Given the description of an element on the screen output the (x, y) to click on. 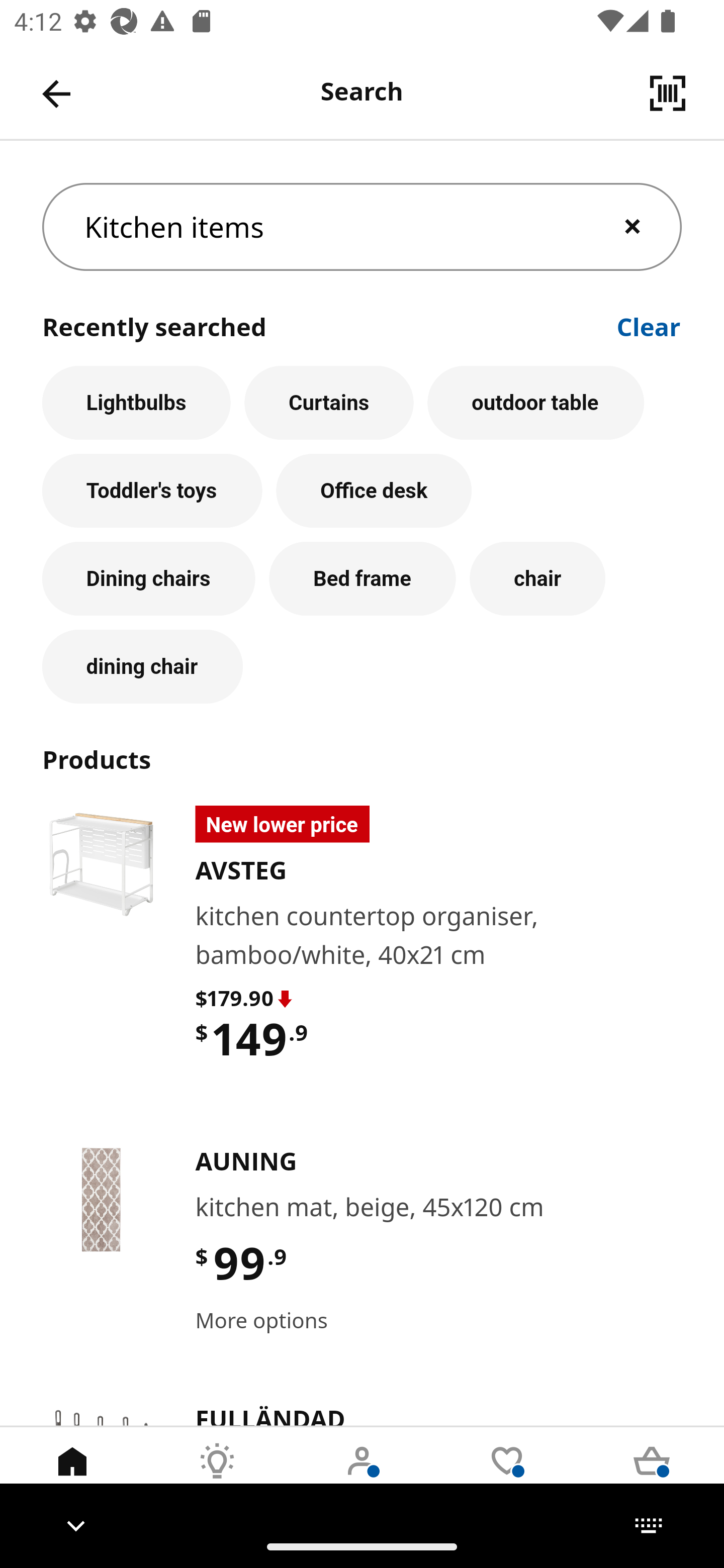
Kitchen items (361, 227)
Clear (649, 324)
Lightbulbs (135, 402)
Curtains (329, 402)
outdoor table (535, 402)
Toddler's toys (151, 490)
Office desk (373, 490)
Dining chairs (148, 579)
Bed frame (362, 579)
chair (537, 579)
dining chair (141, 667)
Home
Tab 1 of 5 (72, 1476)
Inspirations
Tab 2 of 5 (216, 1476)
User
Tab 3 of 5 (361, 1476)
Wishlist
Tab 4 of 5 (506, 1476)
Cart
Tab 5 of 5 (651, 1476)
